Given the description of an element on the screen output the (x, y) to click on. 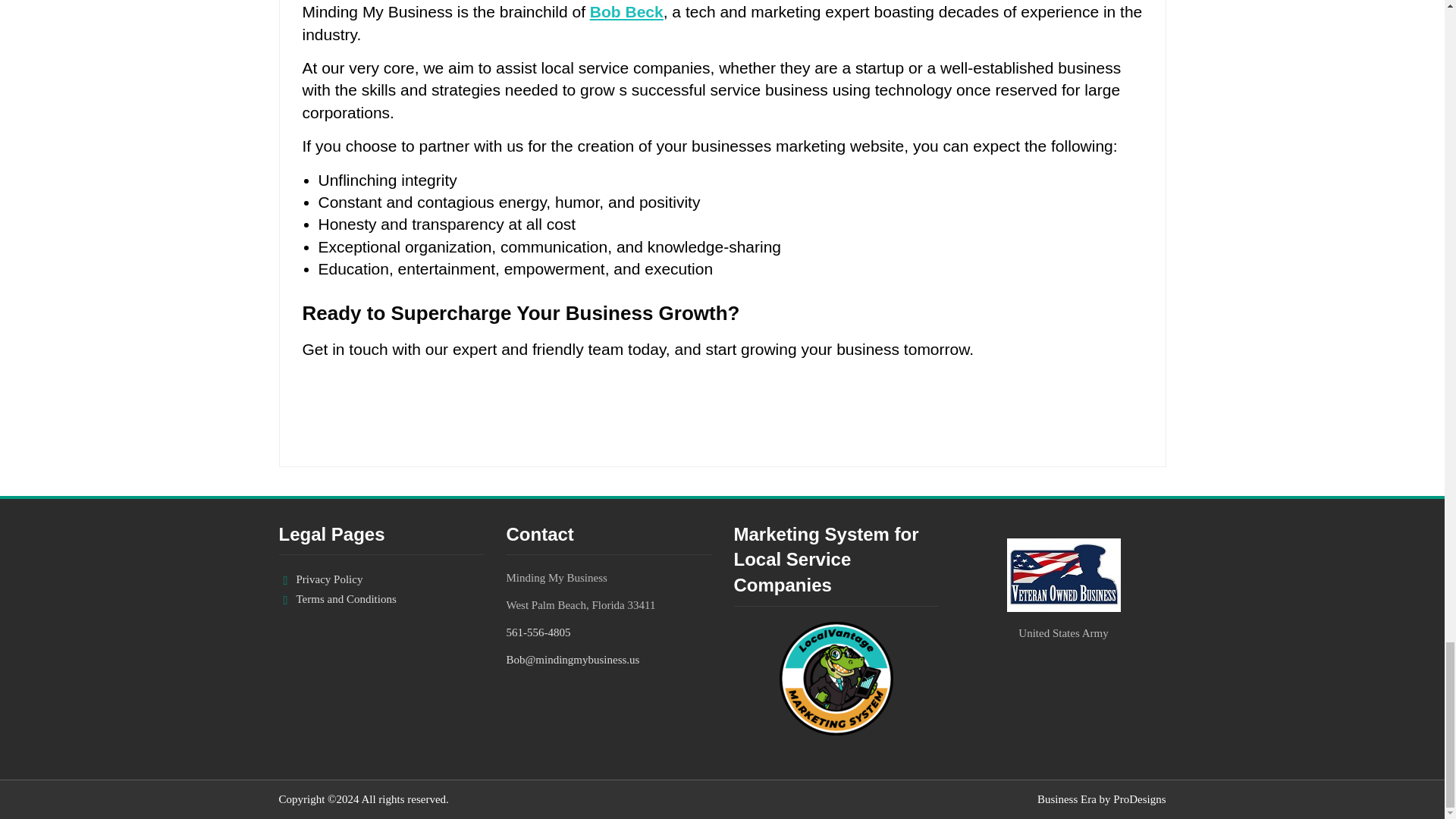
561-556-4805 (538, 632)
Terms and Conditions (345, 598)
Bob Beck (626, 11)
ProDesigns (1139, 799)
Privacy Policy (328, 579)
